Given the description of an element on the screen output the (x, y) to click on. 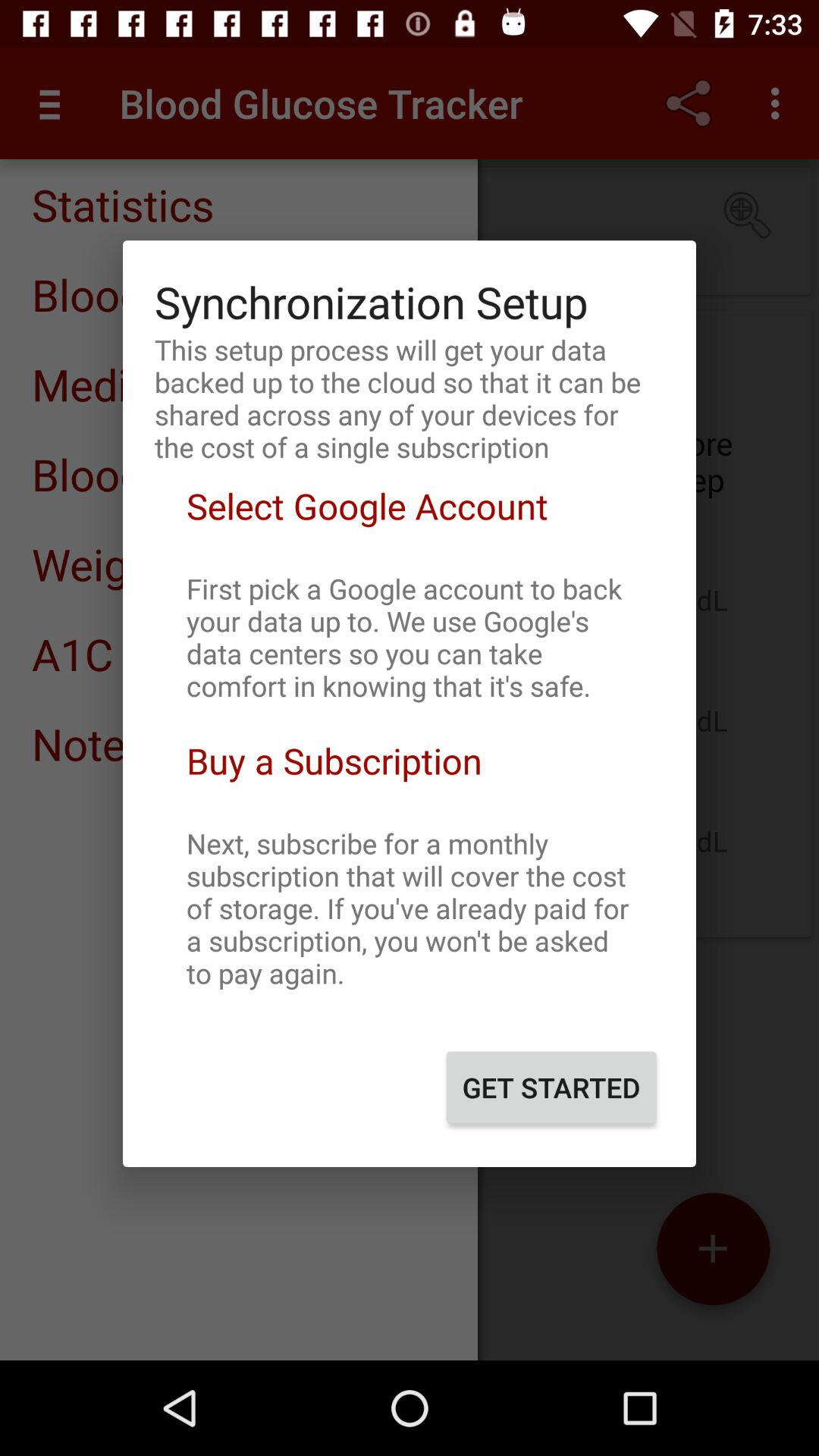
jump to the get started item (551, 1087)
